Given the description of an element on the screen output the (x, y) to click on. 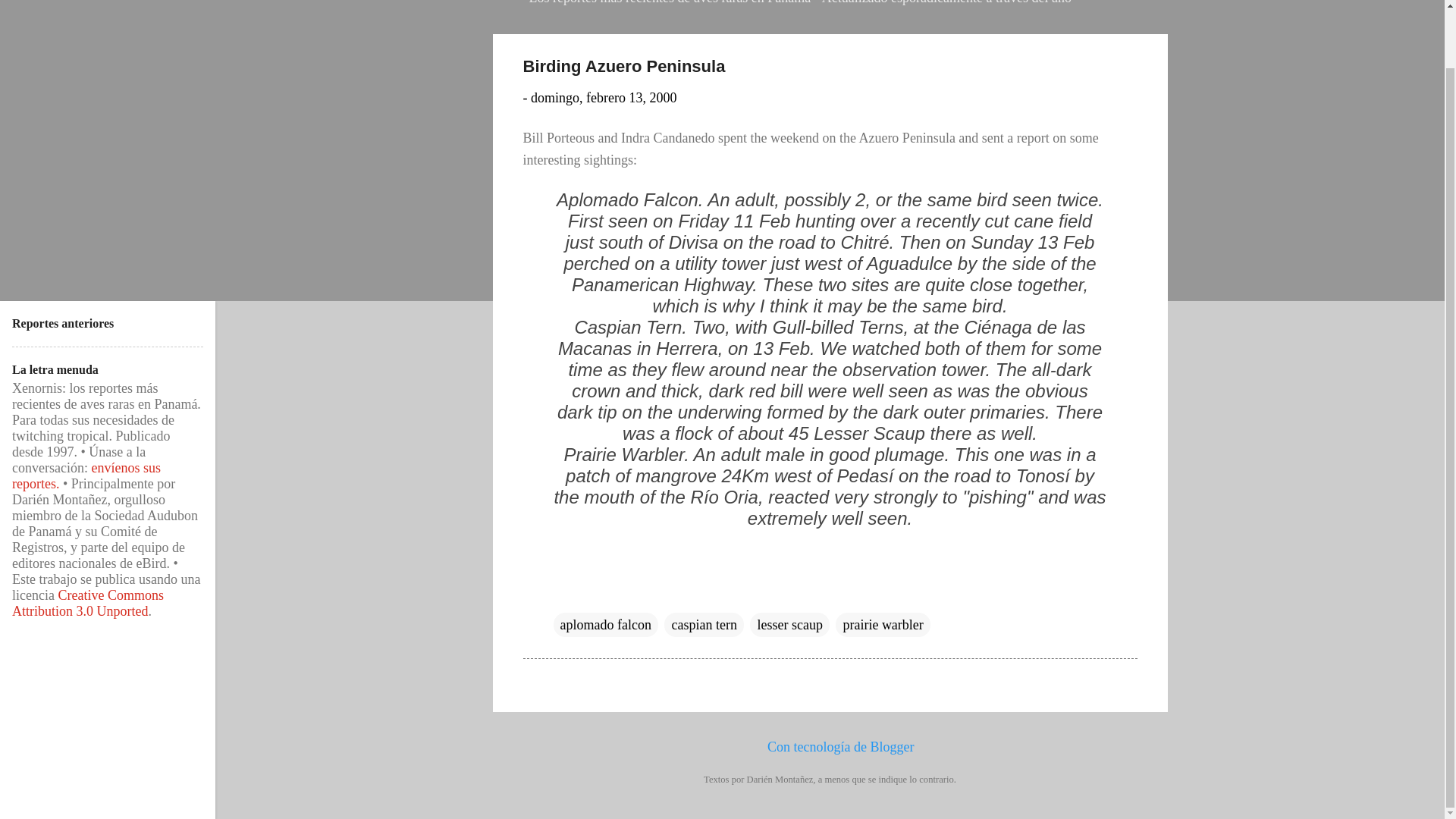
lesser scaup (788, 624)
aplomado falcon (605, 624)
domingo, febrero 13, 2000 (604, 97)
permanent link (604, 97)
prairie warbler (882, 624)
caspian tern (702, 624)
